Given the description of an element on the screen output the (x, y) to click on. 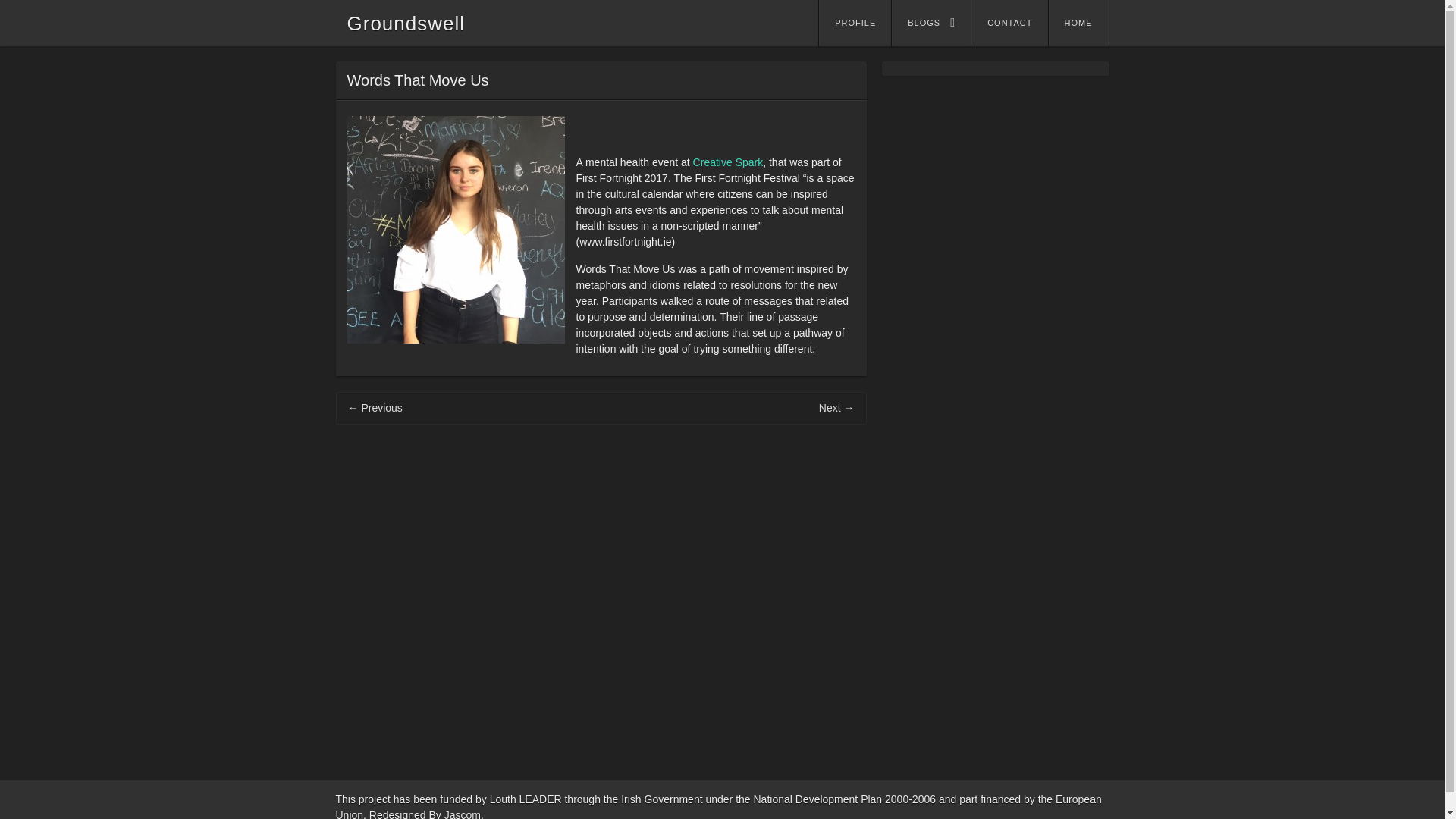
HOME (1078, 22)
Groundswell (406, 23)
CONTACT (1008, 22)
Creative Spark (727, 162)
BLOGS (931, 22)
PROFILE (854, 22)
Groundswell (406, 23)
